Given the description of an element on the screen output the (x, y) to click on. 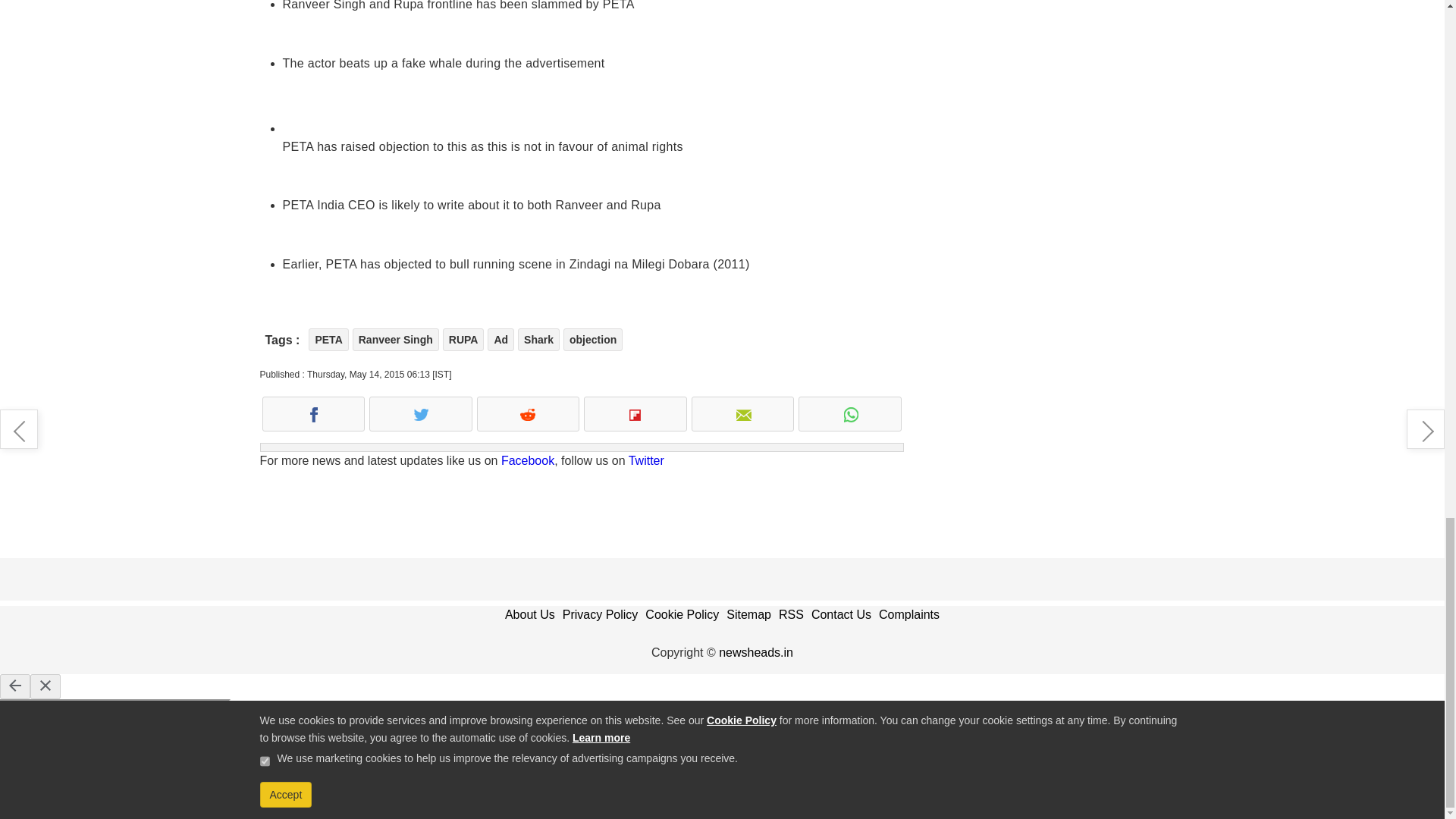
PETA (327, 339)
Shark (538, 339)
objection (593, 339)
Ad (500, 339)
Ranveer Singh (395, 339)
RUPA (463, 339)
